Given the description of an element on the screen output the (x, y) to click on. 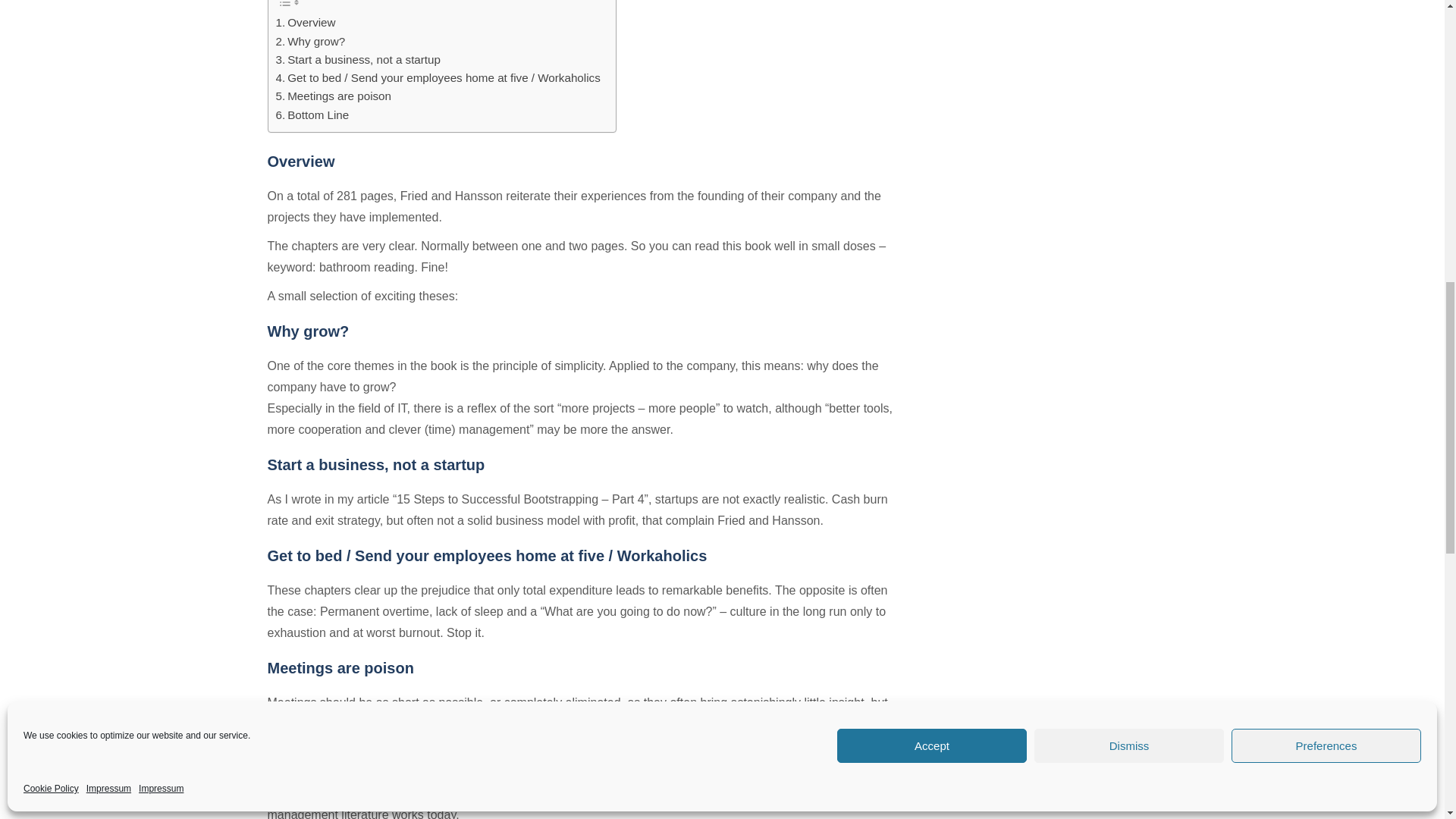
Meetings are poison (333, 95)
Overview (306, 22)
Start a business, not a startup (358, 59)
Bottom Line (312, 115)
Why grow? (311, 40)
Overview (306, 22)
